Given the description of an element on the screen output the (x, y) to click on. 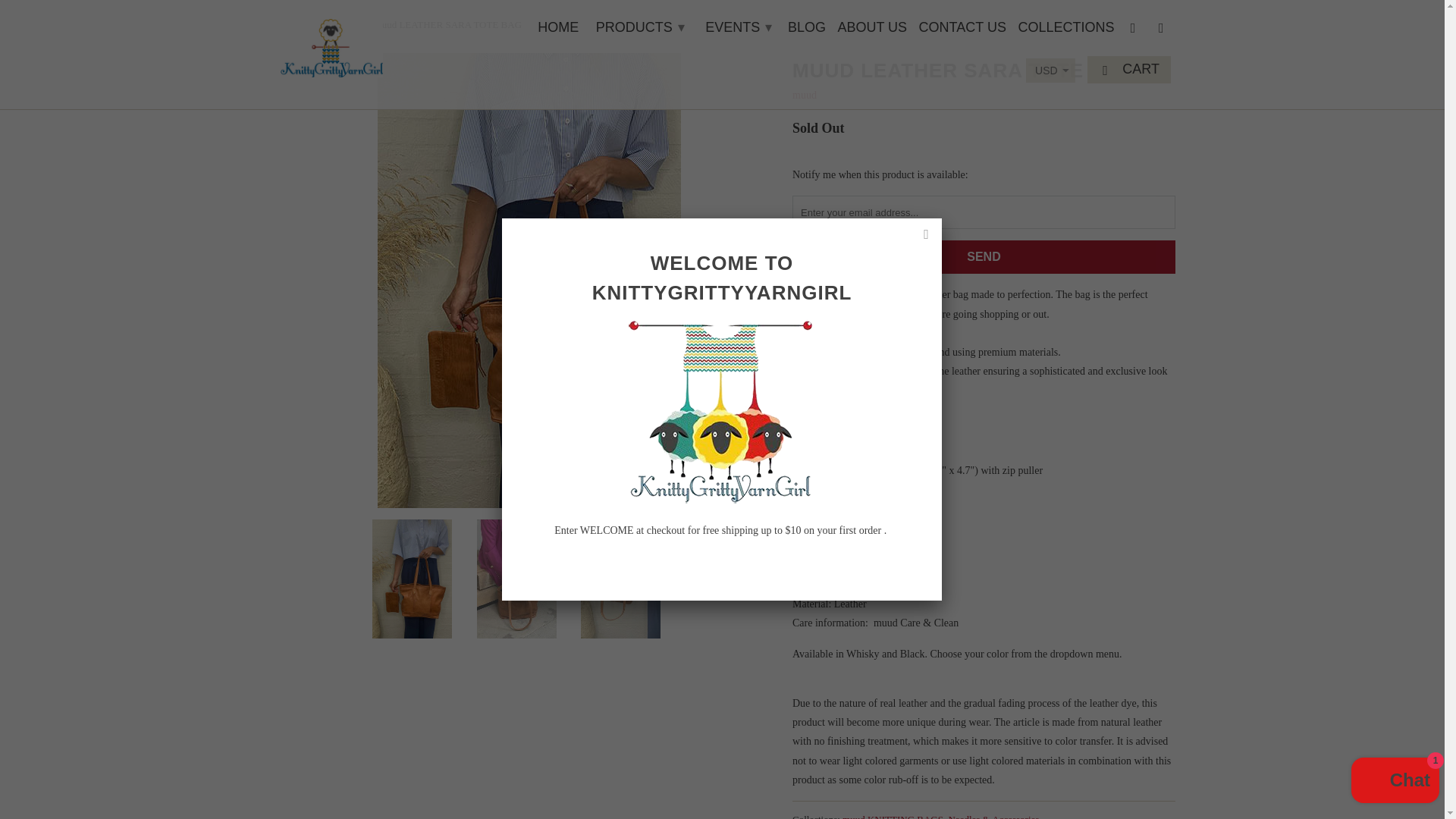
Products (338, 24)
Send (983, 256)
Knitty Gritty Yarn Girl (331, 43)
HOME (557, 29)
muud (804, 94)
Knitty Gritty Yarn Girl (292, 24)
muud KNITTING BAGS (893, 816)
